Given the description of an element on the screen output the (x, y) to click on. 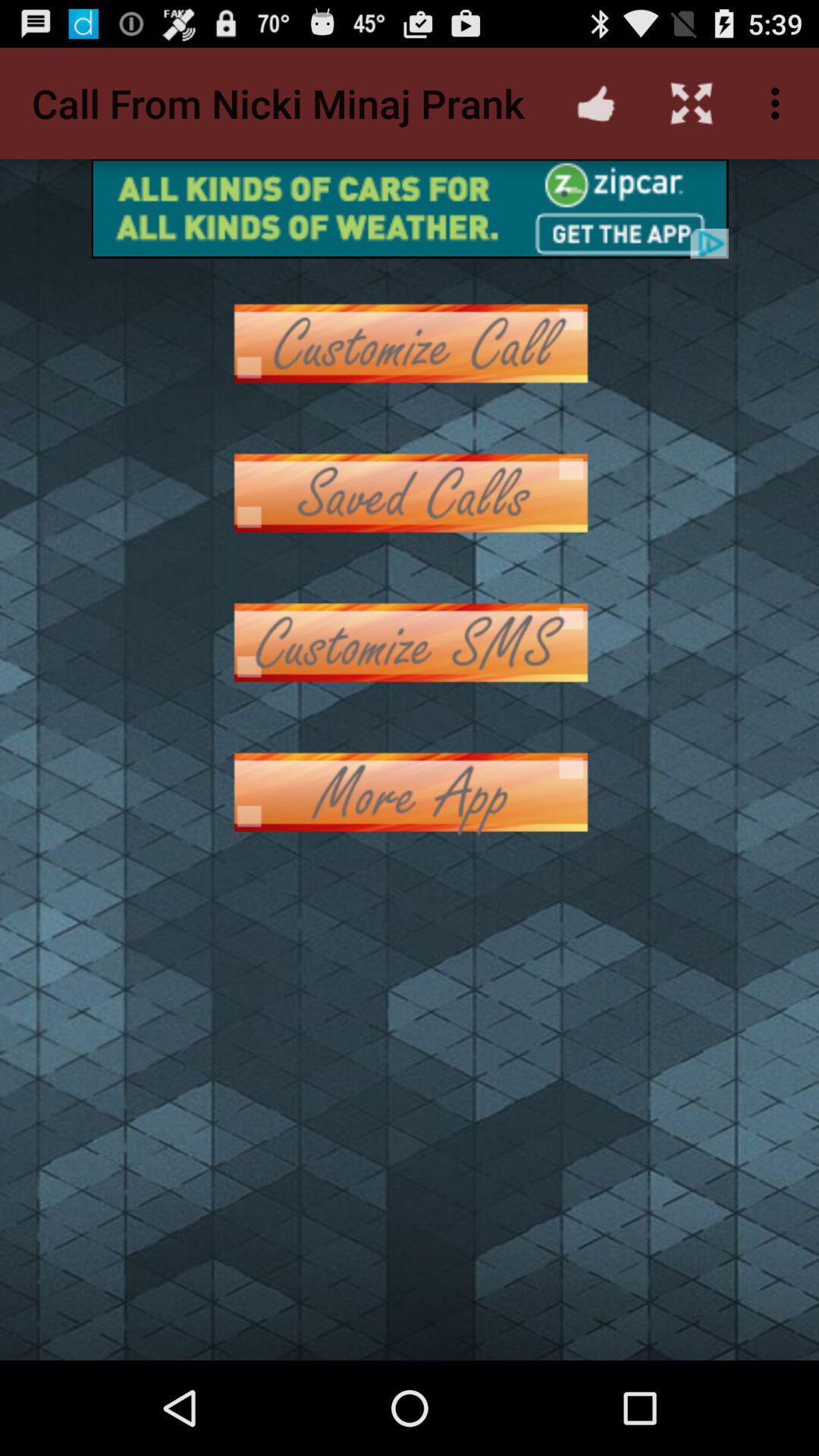
customize sms button (409, 642)
